Given the description of an element on the screen output the (x, y) to click on. 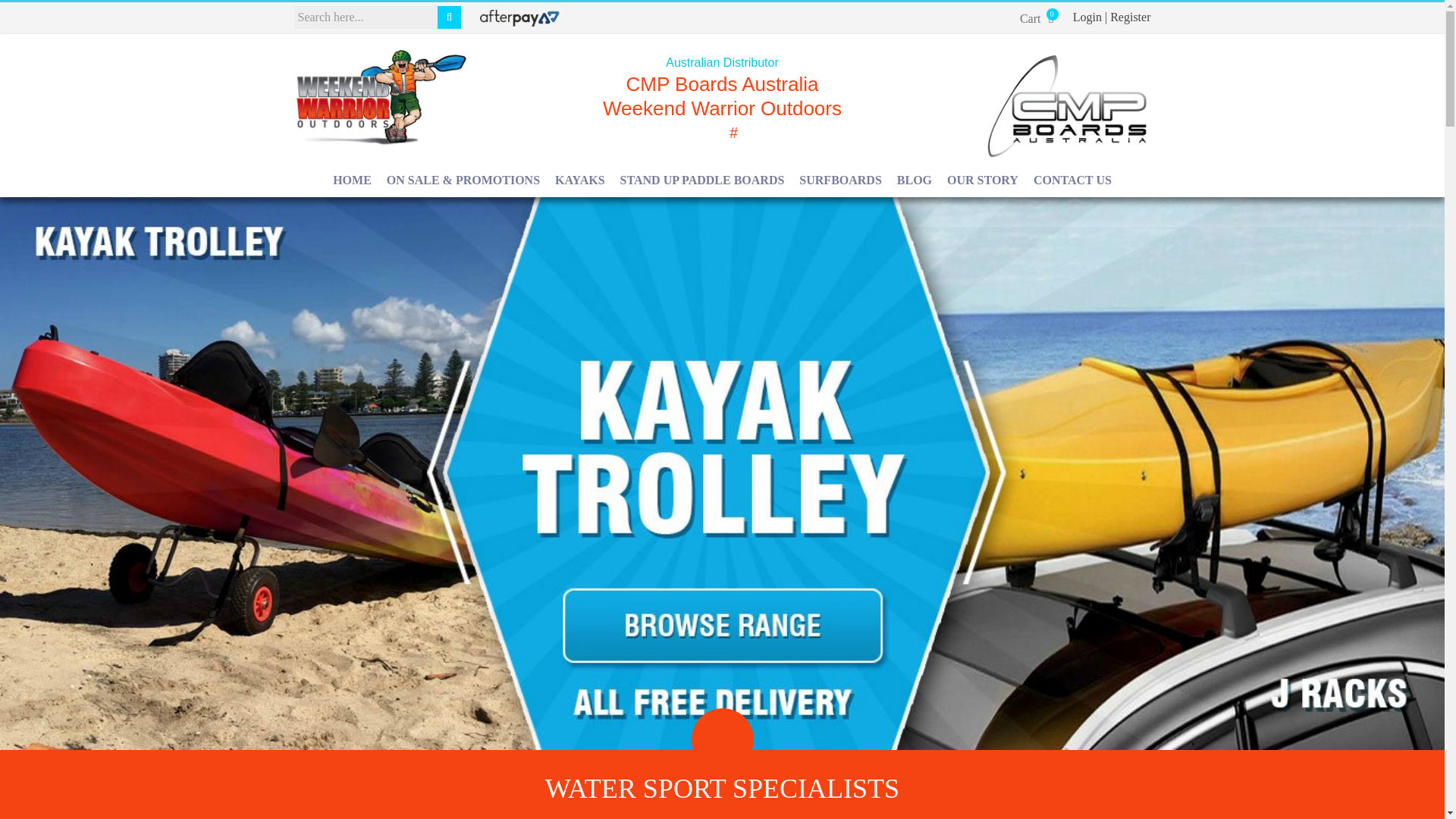
Search (25, 11)
Register (1129, 16)
BLOG (914, 179)
HOME (351, 179)
Login (1087, 16)
View your shopping cart (1037, 18)
CONTACT US (1072, 179)
OUR STORY (982, 179)
KAYAKS (1037, 18)
SURFBOARDS (579, 179)
STAND UP PADDLE BOARDS (840, 179)
